Given the description of an element on the screen output the (x, y) to click on. 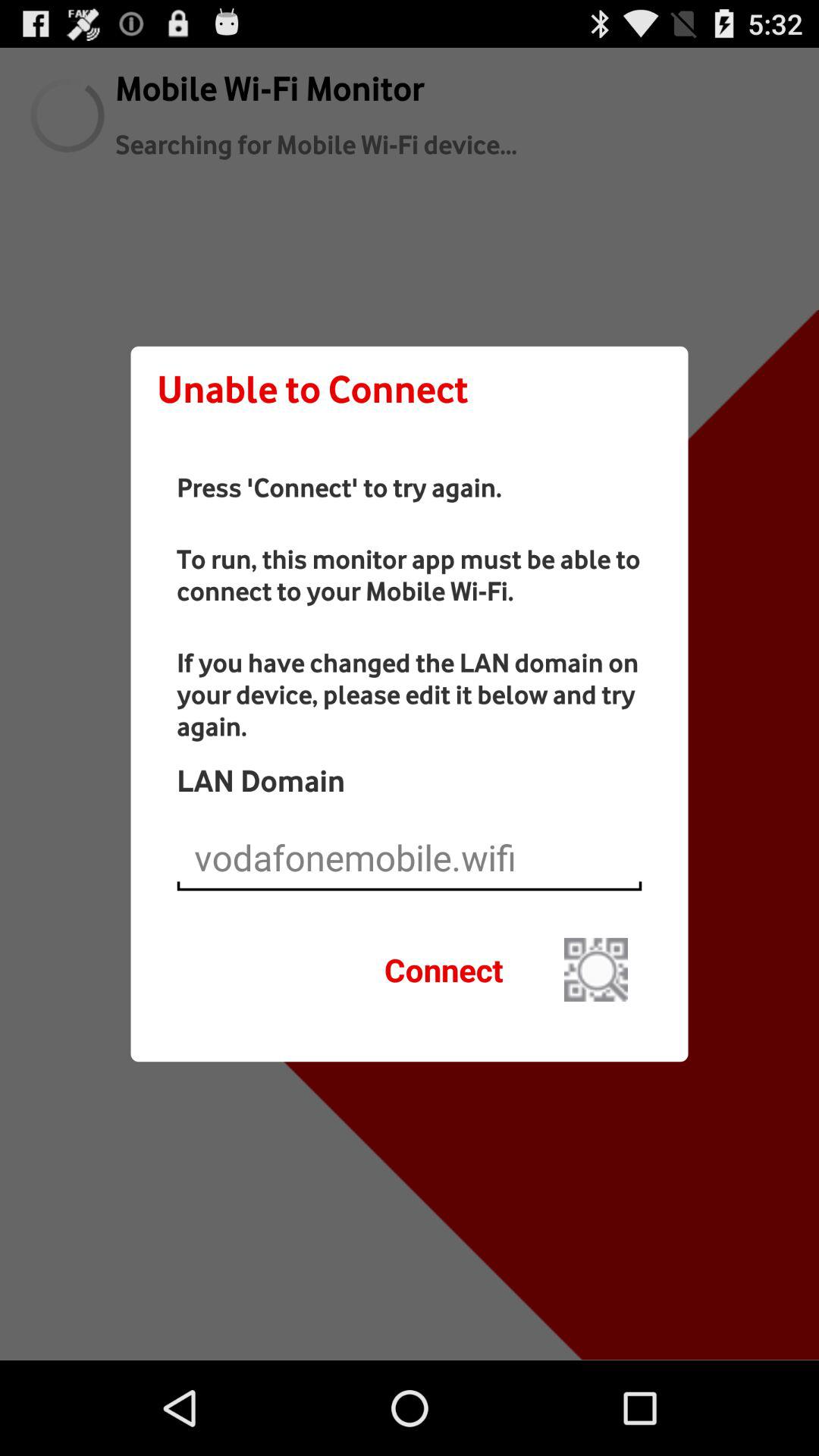
qr connect (595, 969)
